Given the description of an element on the screen output the (x, y) to click on. 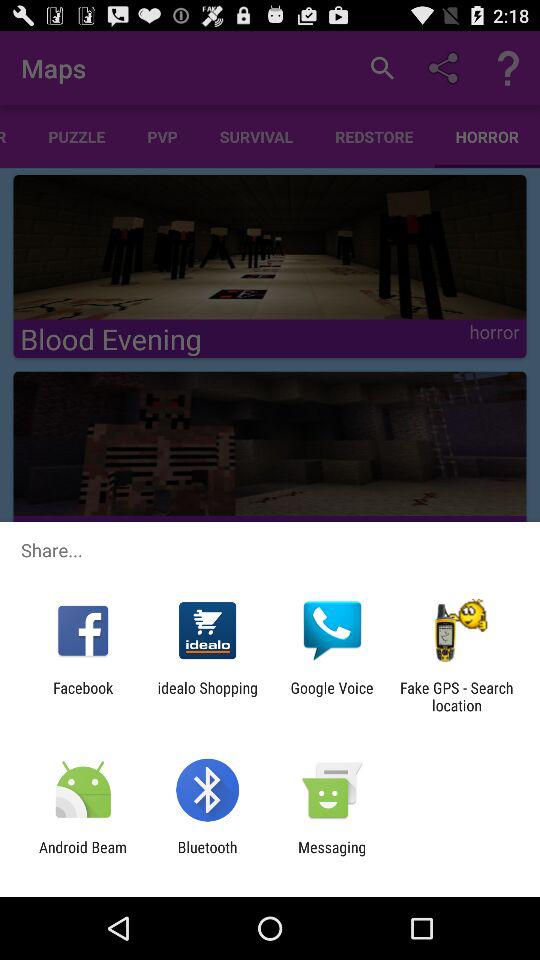
select app to the right of bluetooth item (332, 856)
